Given the description of an element on the screen output the (x, y) to click on. 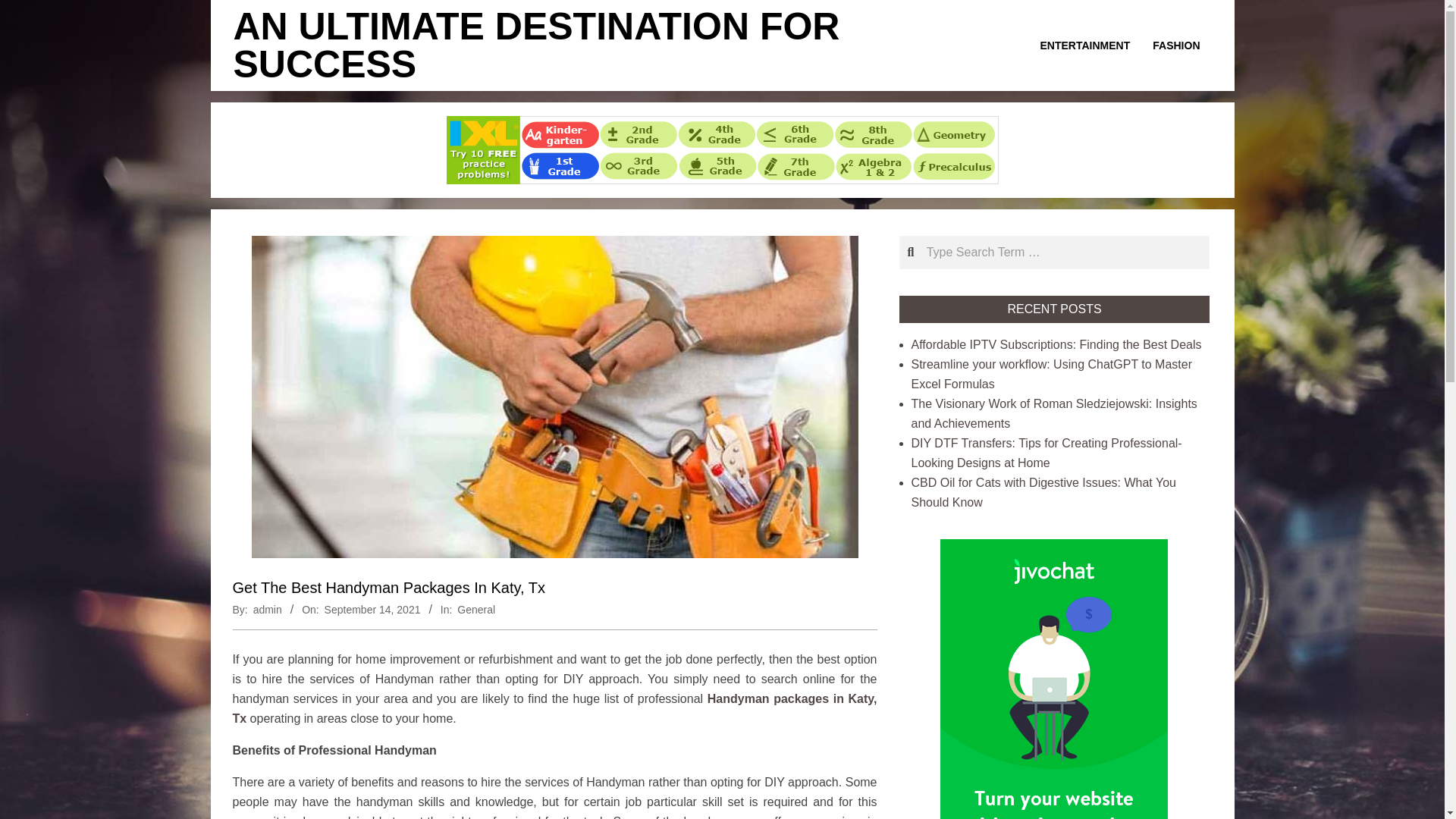
Handyman packages in Katy, Tx (553, 708)
General (476, 609)
FASHION (1176, 45)
ENTERTAINMENT (1085, 45)
Affordable IPTV Subscriptions: Finding the Best Deals (1056, 344)
AN ULTIMATE DESTINATION FOR SUCCESS (536, 44)
Posts by admin (267, 609)
